Given the description of an element on the screen output the (x, y) to click on. 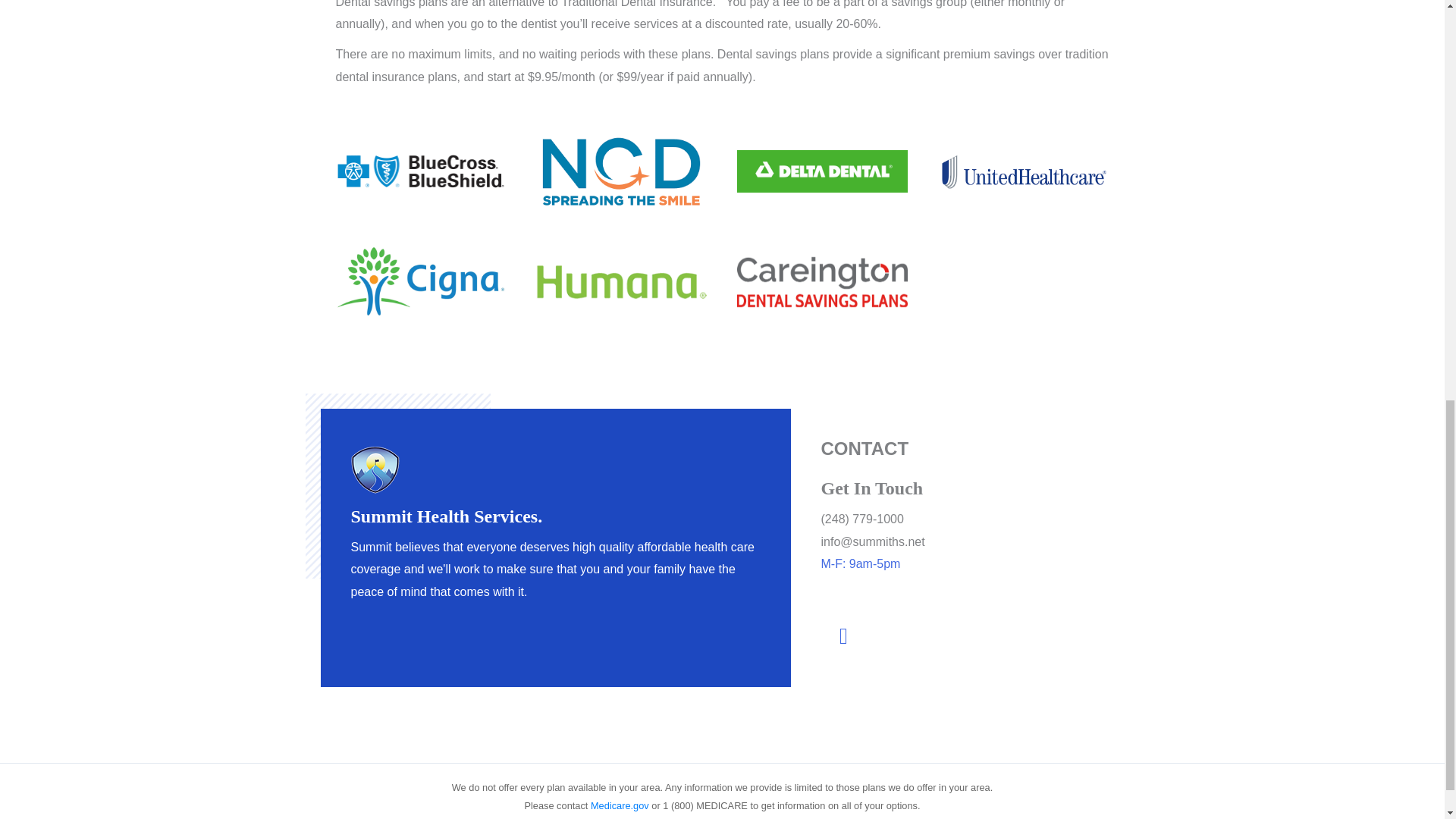
logosmall (374, 469)
Facebook (843, 636)
